Given the description of an element on the screen output the (x, y) to click on. 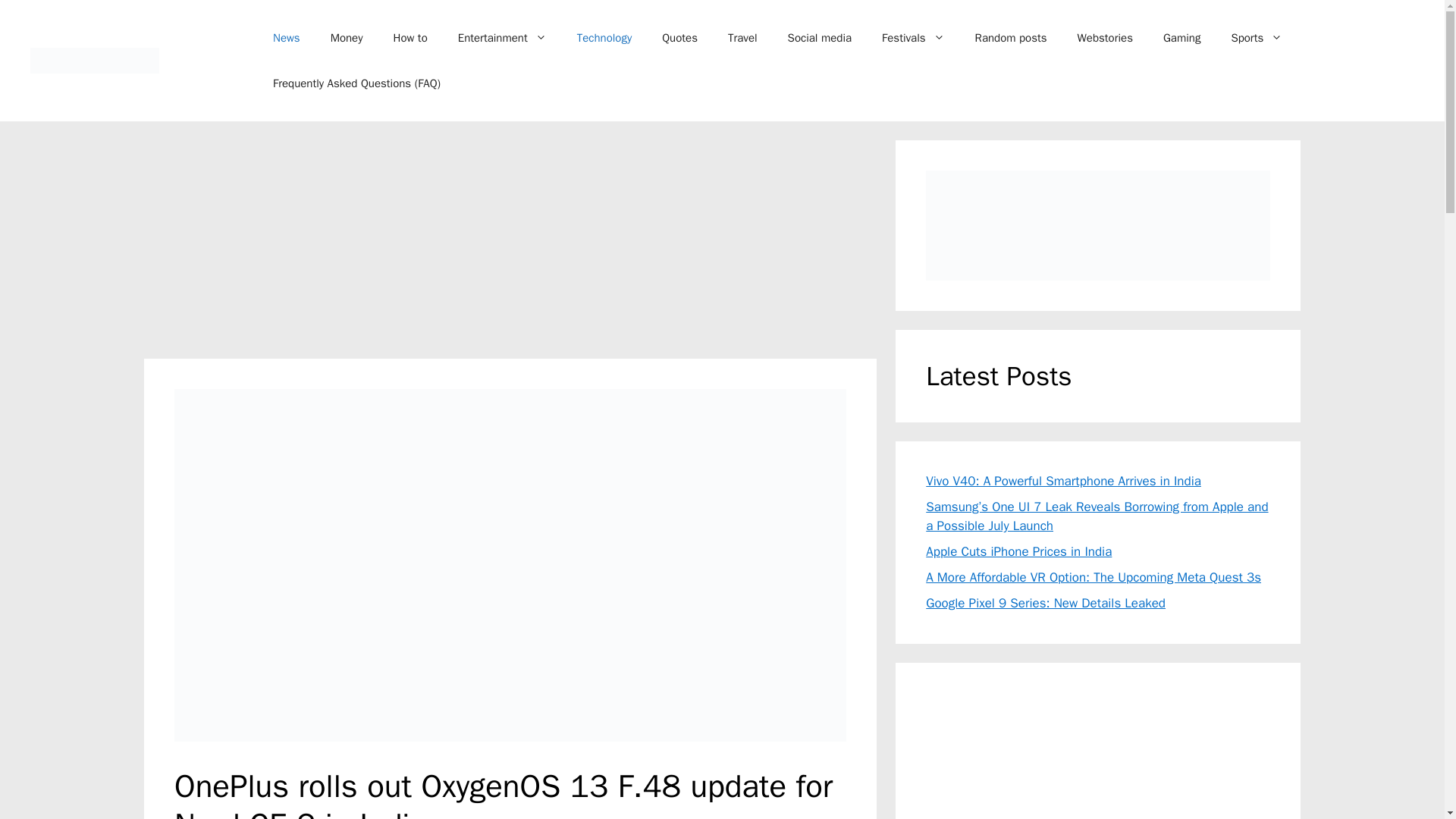
Random posts (1010, 37)
News (286, 37)
Technology (604, 37)
Festivals (912, 37)
Travel (743, 37)
Gaming (1181, 37)
Social media (819, 37)
Money (346, 37)
How to (410, 37)
